Given the description of an element on the screen output the (x, y) to click on. 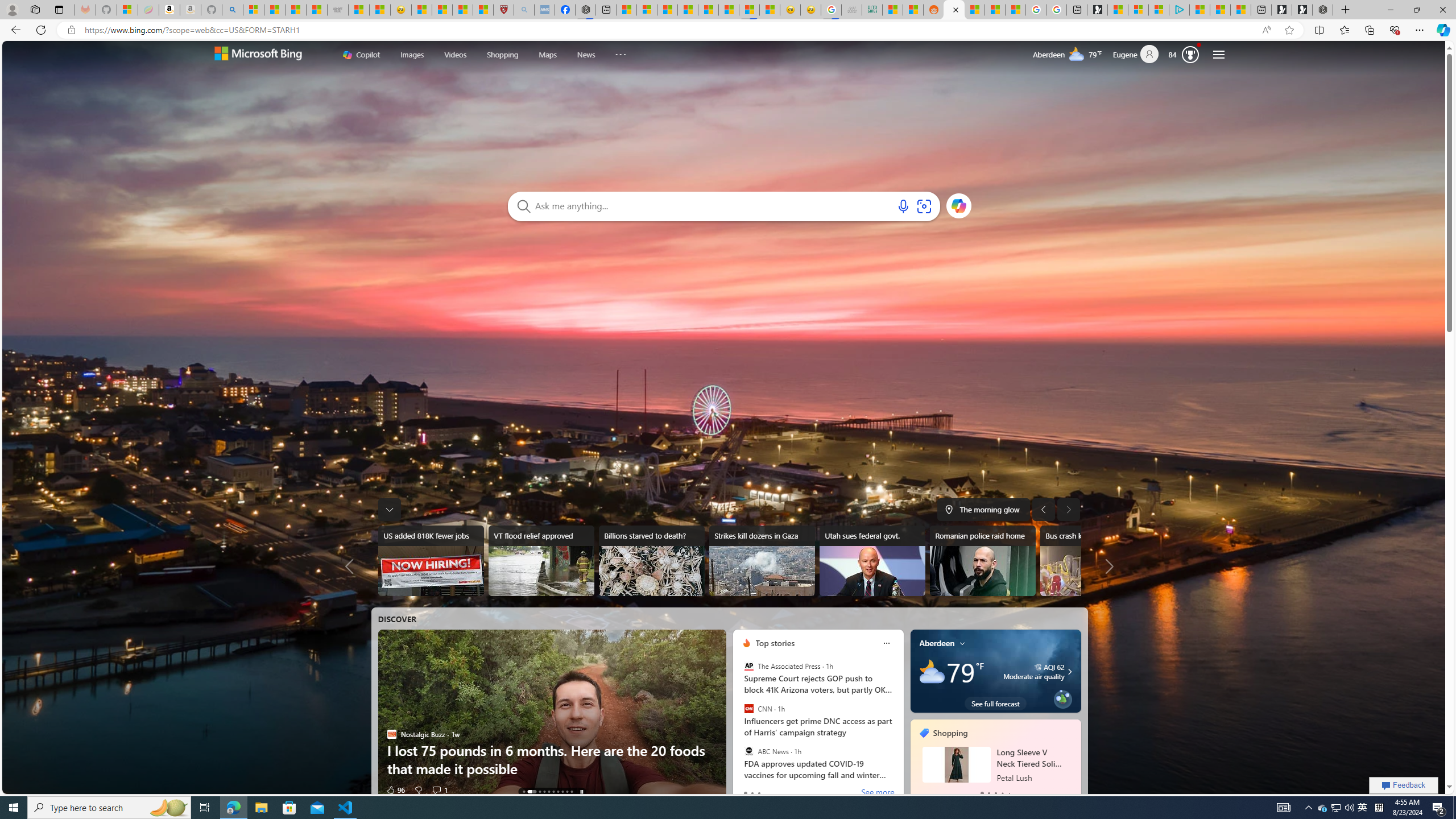
Utah sues federal govt. (872, 560)
96 Like (395, 789)
AutomationID: tab-4 (548, 791)
aqi-icon AQI 62 Moderate air quality (1033, 671)
Learn more (958, 205)
Credits: Iranian state television via AP) (1092, 571)
